Given the description of an element on the screen output the (x, y) to click on. 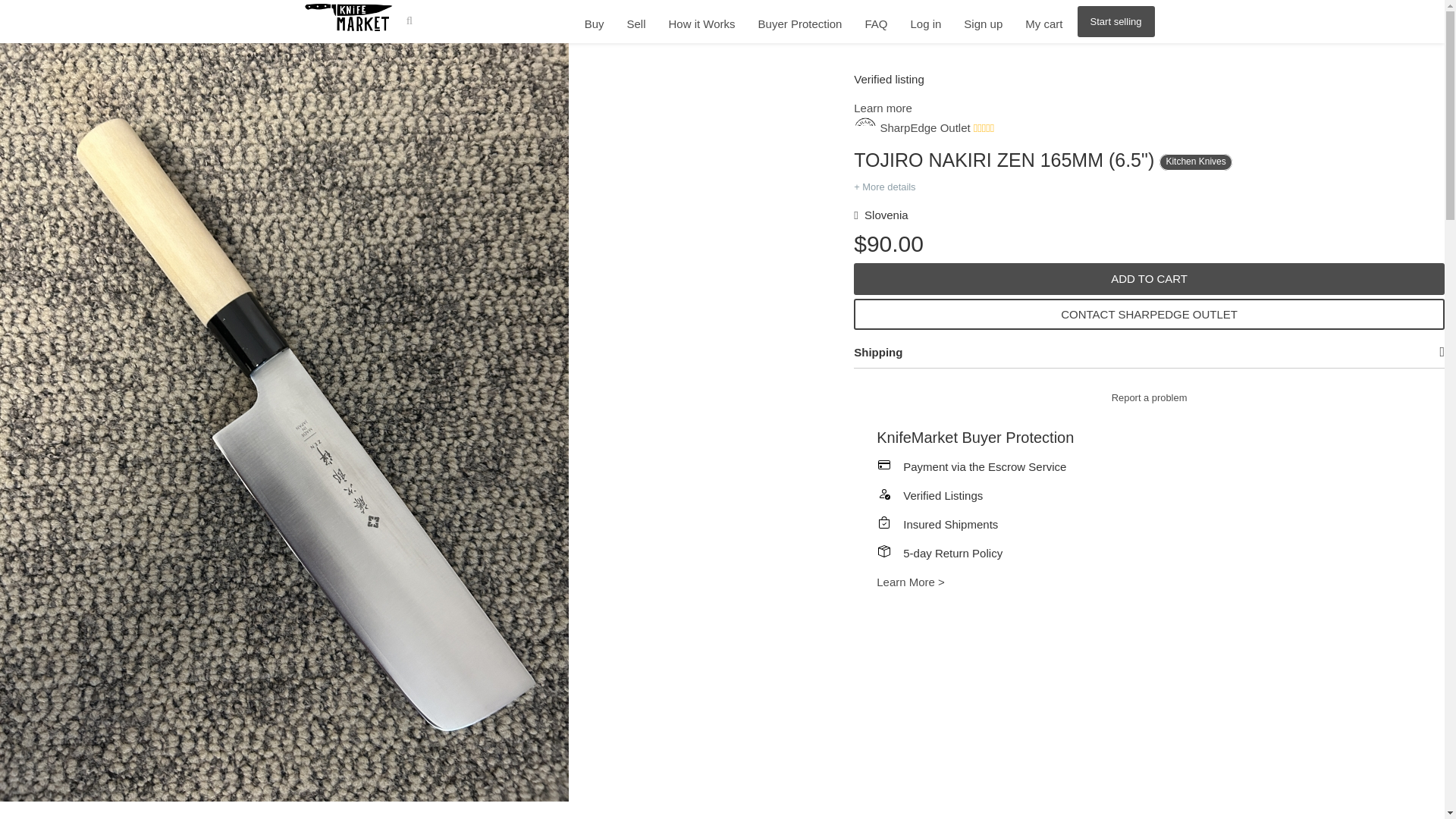
Sell (635, 25)
Shipping (877, 351)
FAQ (875, 25)
Learn more (882, 107)
Sign up (982, 25)
Log in (925, 25)
How it Works (700, 25)
SharpEdge Outlet (911, 127)
Kitchen Knives (1194, 159)
Buy (594, 25)
